Given the description of an element on the screen output the (x, y) to click on. 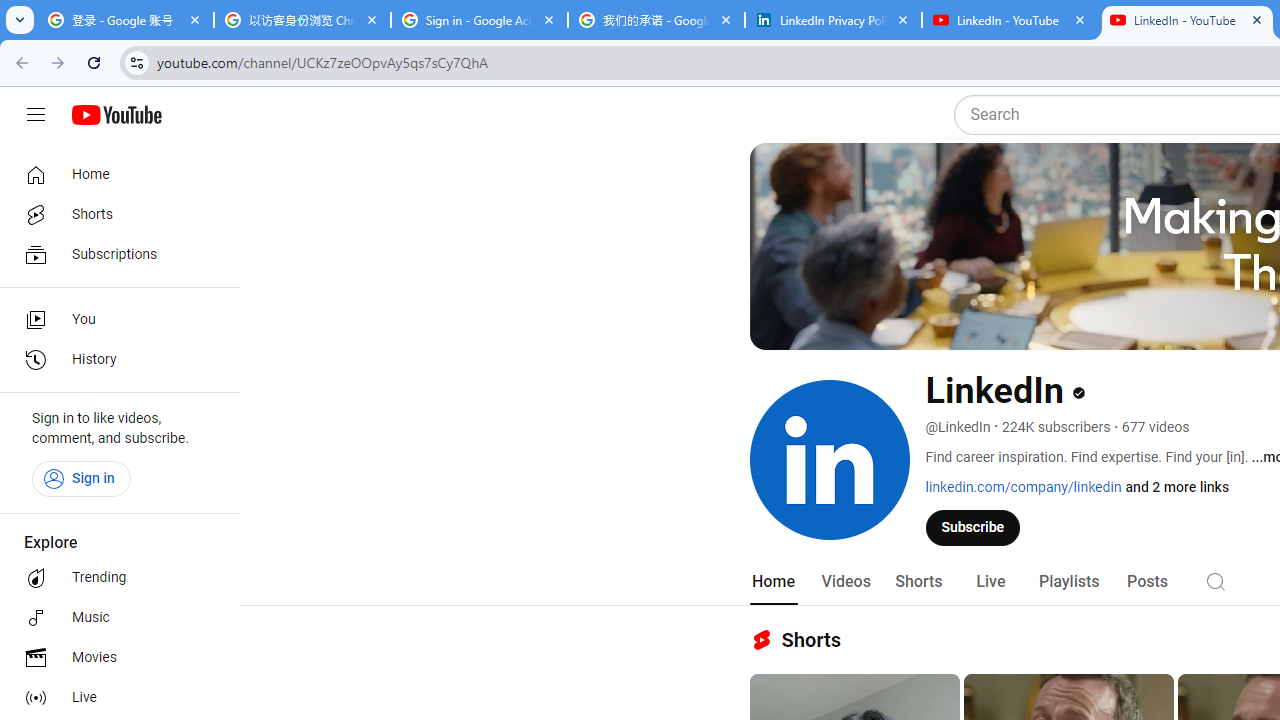
Music (113, 617)
History (113, 359)
LinkedIn - YouTube (1010, 20)
Subscriptions (113, 254)
